Given the description of an element on the screen output the (x, y) to click on. 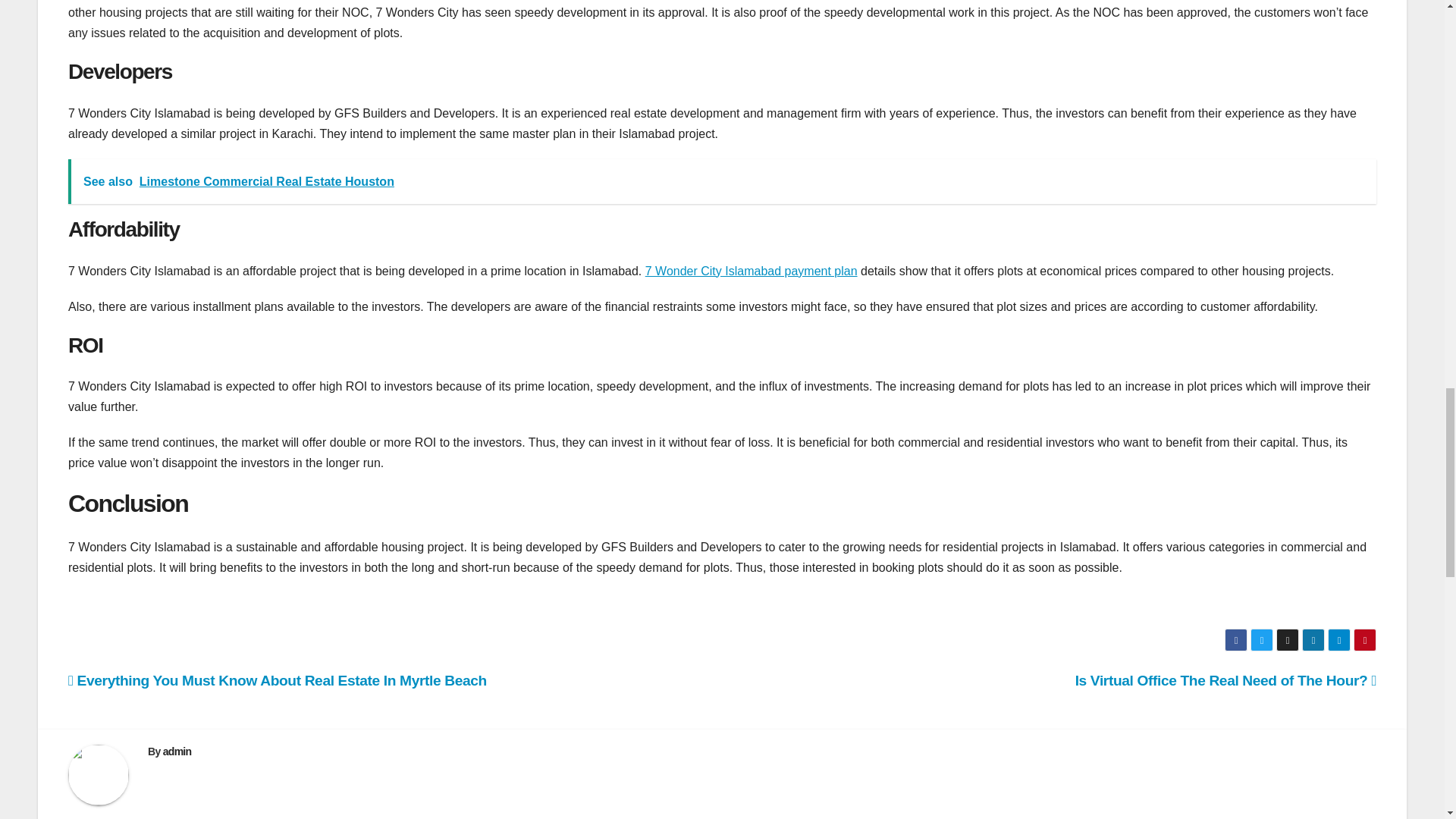
7 Wonder City Islamabad payment plan (751, 270)
See also  Limestone Commercial Real Estate Houston (721, 180)
